Given the description of an element on the screen output the (x, y) to click on. 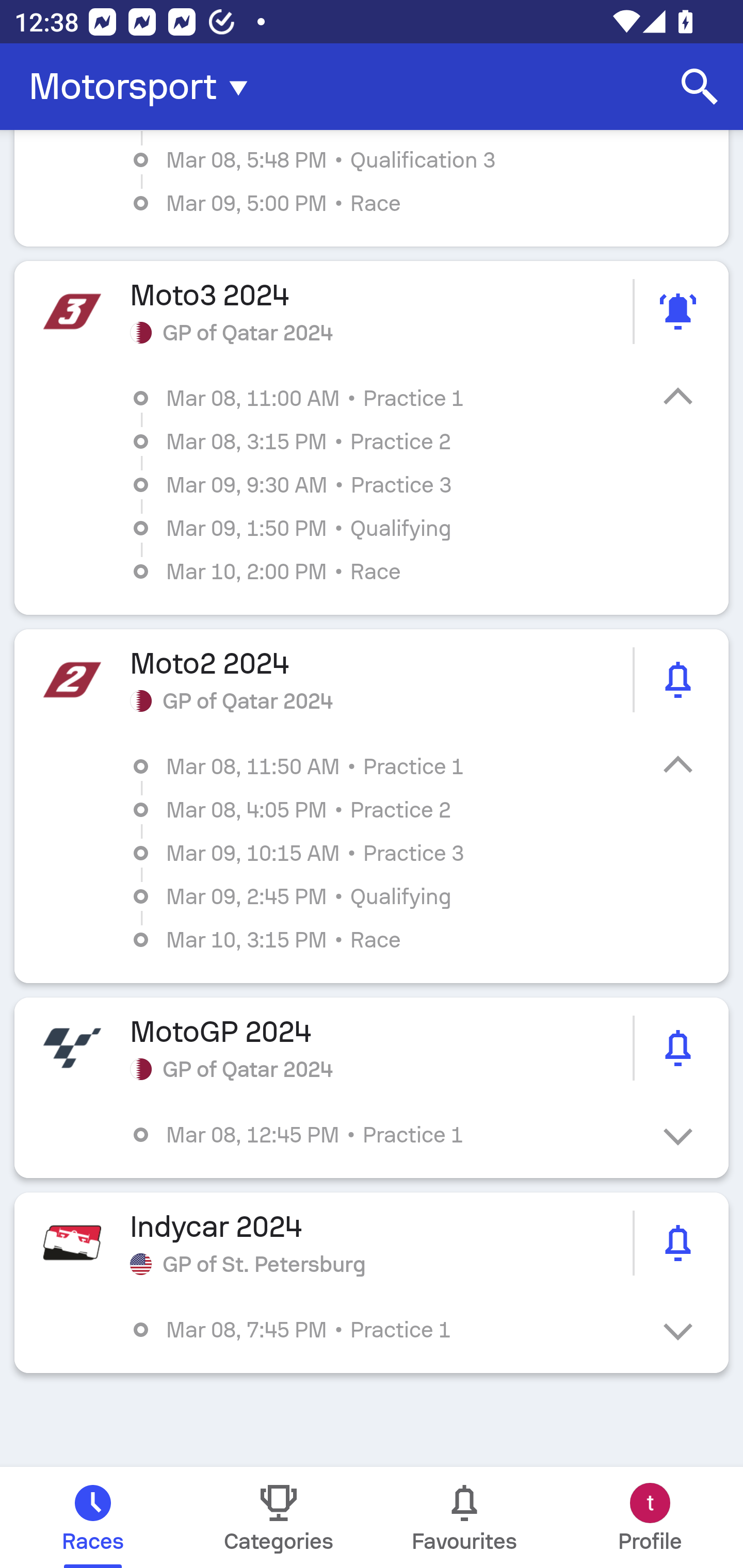
Motorsport (144, 86)
Search (699, 86)
Mar 08, 12:45 PM • Practice 1 (385, 1134)
Mar 08, 7:45 PM • Practice 1 (385, 1329)
Categories (278, 1517)
Favourites (464, 1517)
Profile (650, 1517)
